Given the description of an element on the screen output the (x, y) to click on. 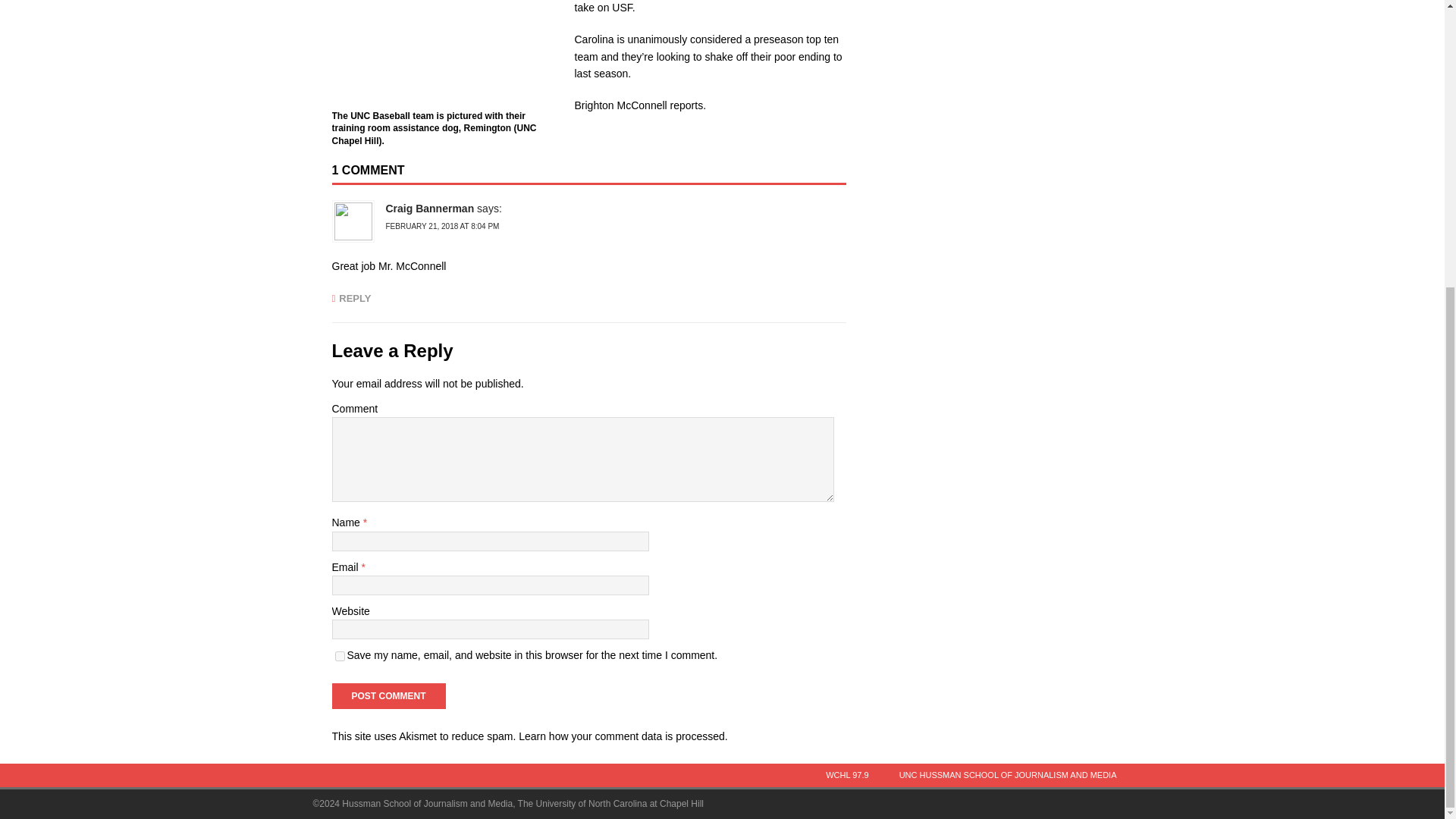
REPLY (351, 298)
UNC HUSSMAN SCHOOL OF JOURNALISM AND MEDIA (1007, 775)
FEBRUARY 21, 2018 AT 8:04 PM (442, 225)
Learn how your comment data is processed (621, 736)
WCHL 97.9 (846, 775)
Post Comment (388, 696)
yes (339, 655)
Post Comment (388, 696)
